Given the description of an element on the screen output the (x, y) to click on. 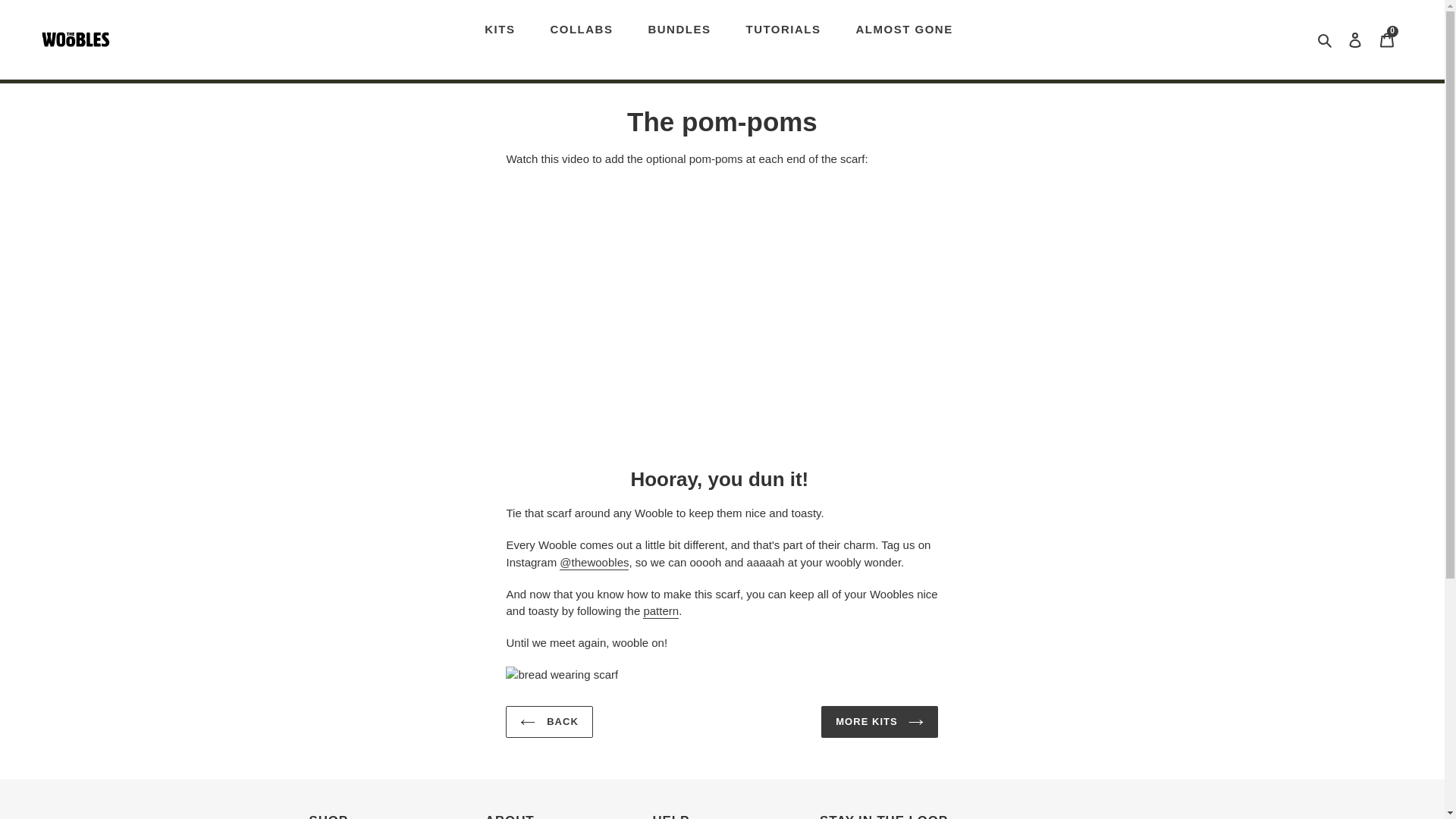
TUTORIALS (782, 29)
BUNDLES (679, 29)
woobles instagram (593, 563)
tiny scarf pattern (660, 611)
COLLABS (580, 29)
Account (1355, 38)
ALMOST GONE (904, 29)
Search (1326, 39)
KITS (499, 29)
